Given the description of an element on the screen output the (x, y) to click on. 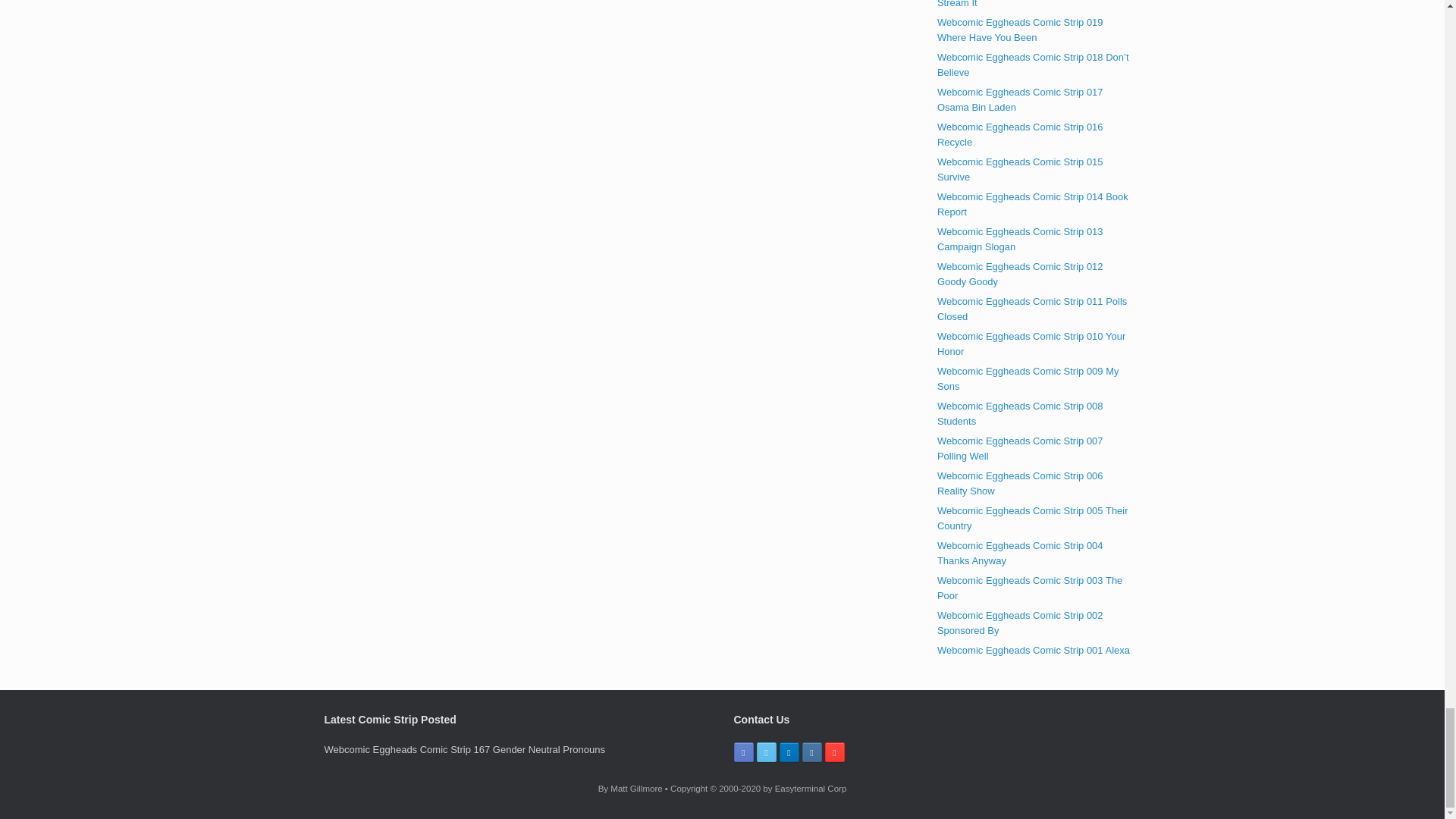
Eggheads Comic Instagram (812, 752)
Eggheads Comic Pinterest (834, 752)
Eggheads Comic LinkedIn (788, 752)
Eggheads Comic Facebook (743, 752)
Eggheads Comic Twitter (766, 752)
